Given the description of an element on the screen output the (x, y) to click on. 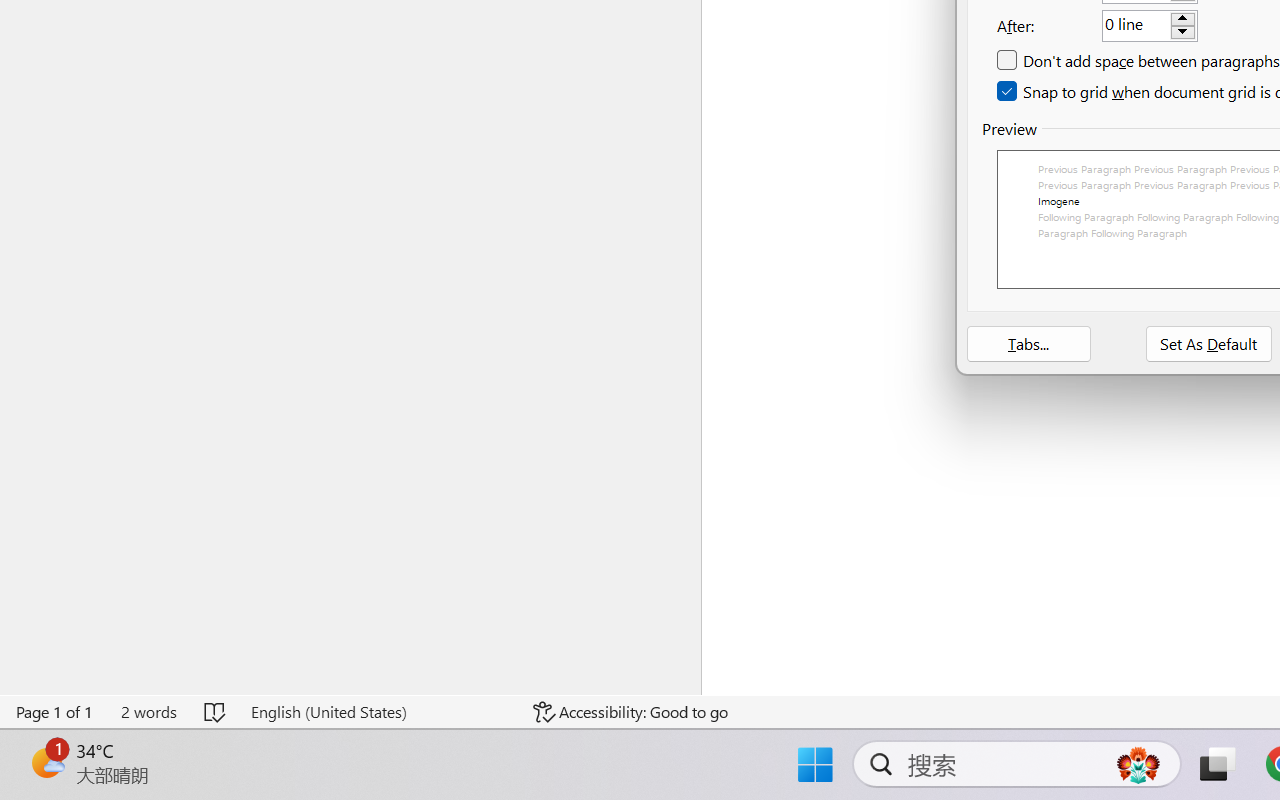
Page Number Page 1 of 1 (55, 712)
Tabs... (1028, 343)
RichEdit Control (1136, 25)
Set As Default (1209, 343)
After: (1150, 25)
